Given the description of an element on the screen output the (x, y) to click on. 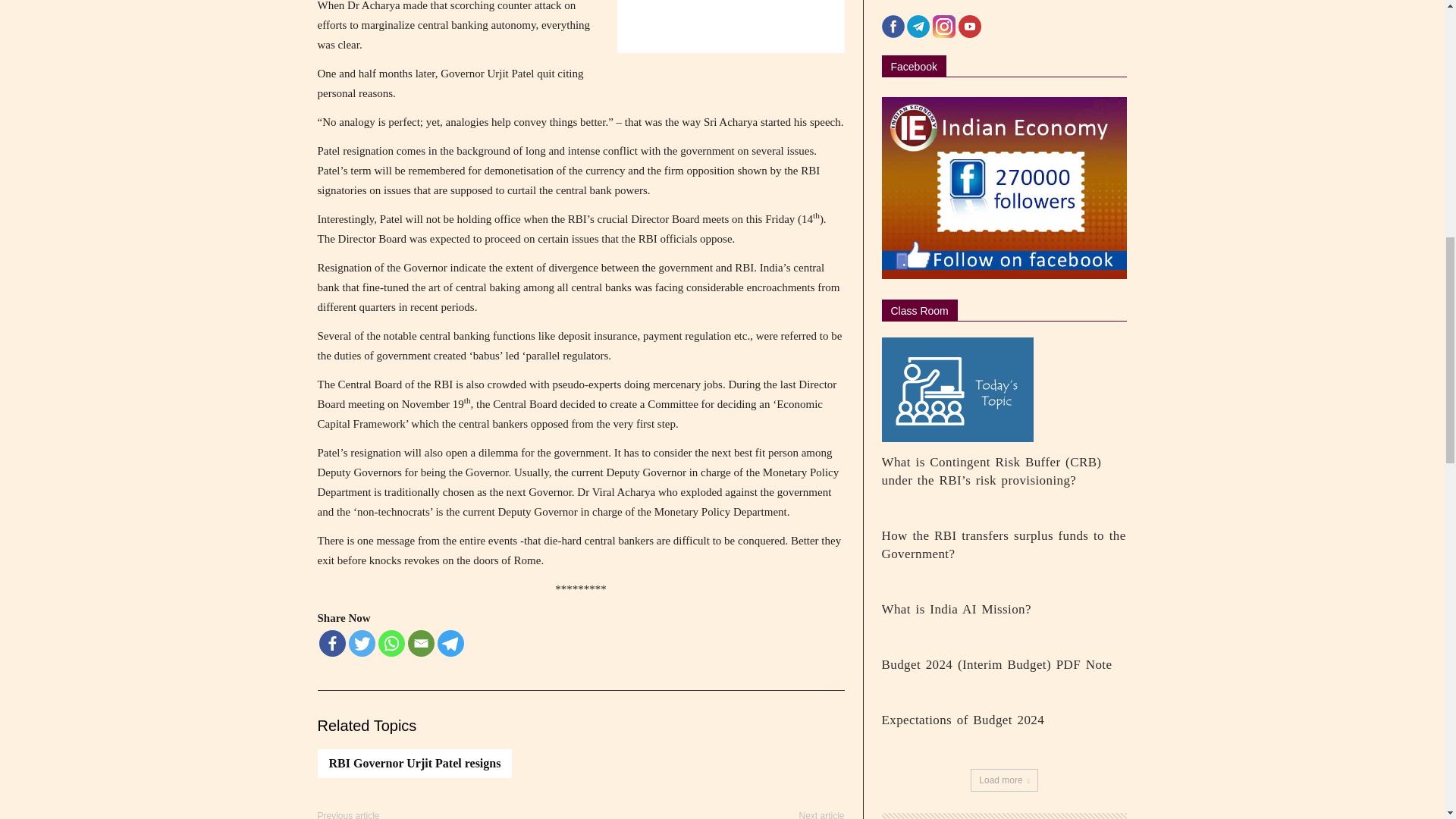
Telegram (449, 642)
Advertisement (730, 26)
Whatsapp (390, 642)
Twitter (362, 642)
Facebook (331, 642)
Email (420, 642)
